Given the description of an element on the screen output the (x, y) to click on. 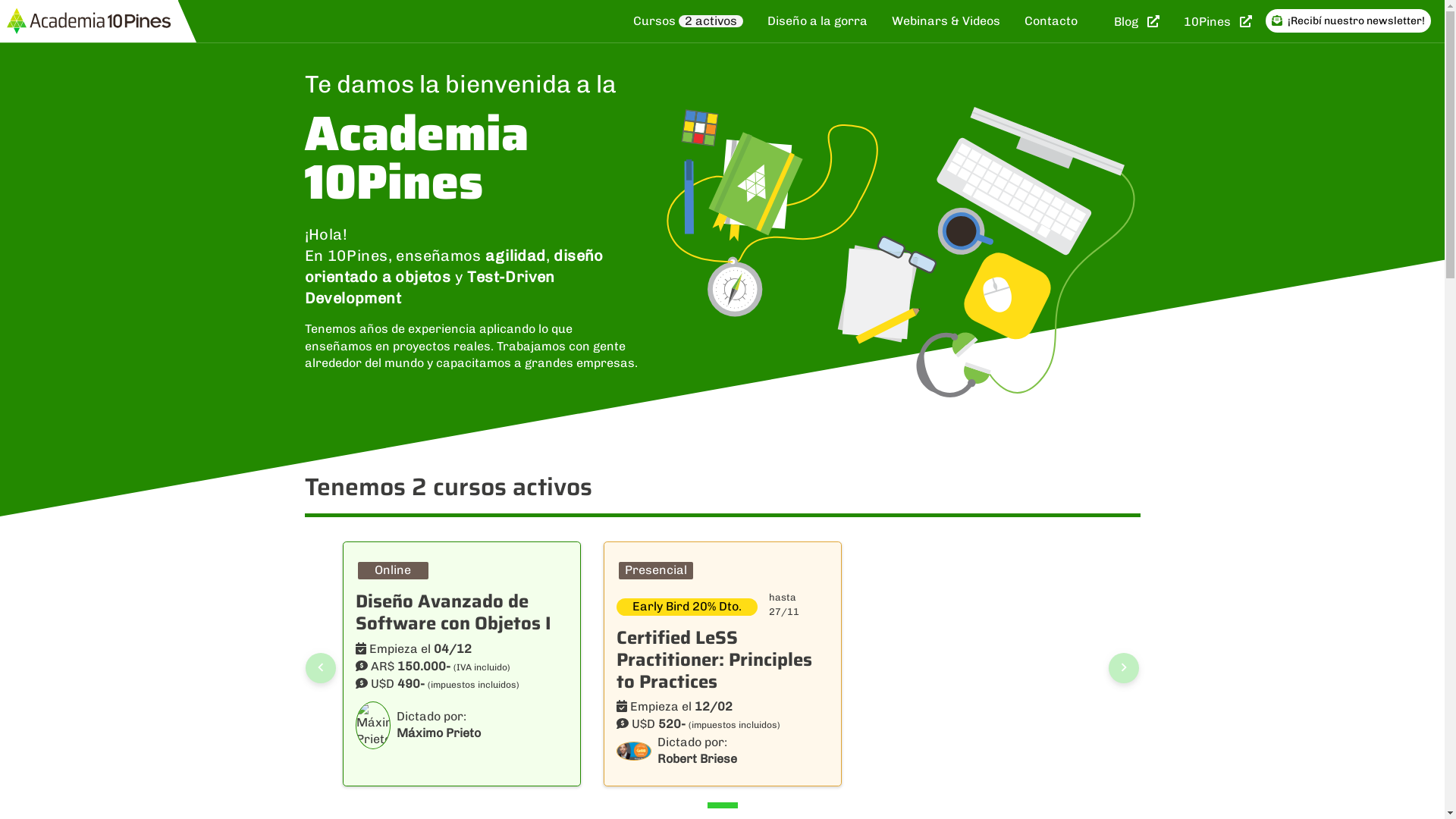
Webinars & Videos Element type: text (945, 20)
Cursos
2 activos Element type: text (688, 20)
Next Element type: text (1123, 667)
10Pines Element type: text (1217, 20)
Blog Element type: text (1136, 20)
Contacto Element type: text (1050, 20)
Certified LeSS Practitioner: Principles to Practices Element type: text (713, 659)
Previous Element type: text (320, 667)
